Given the description of an element on the screen output the (x, y) to click on. 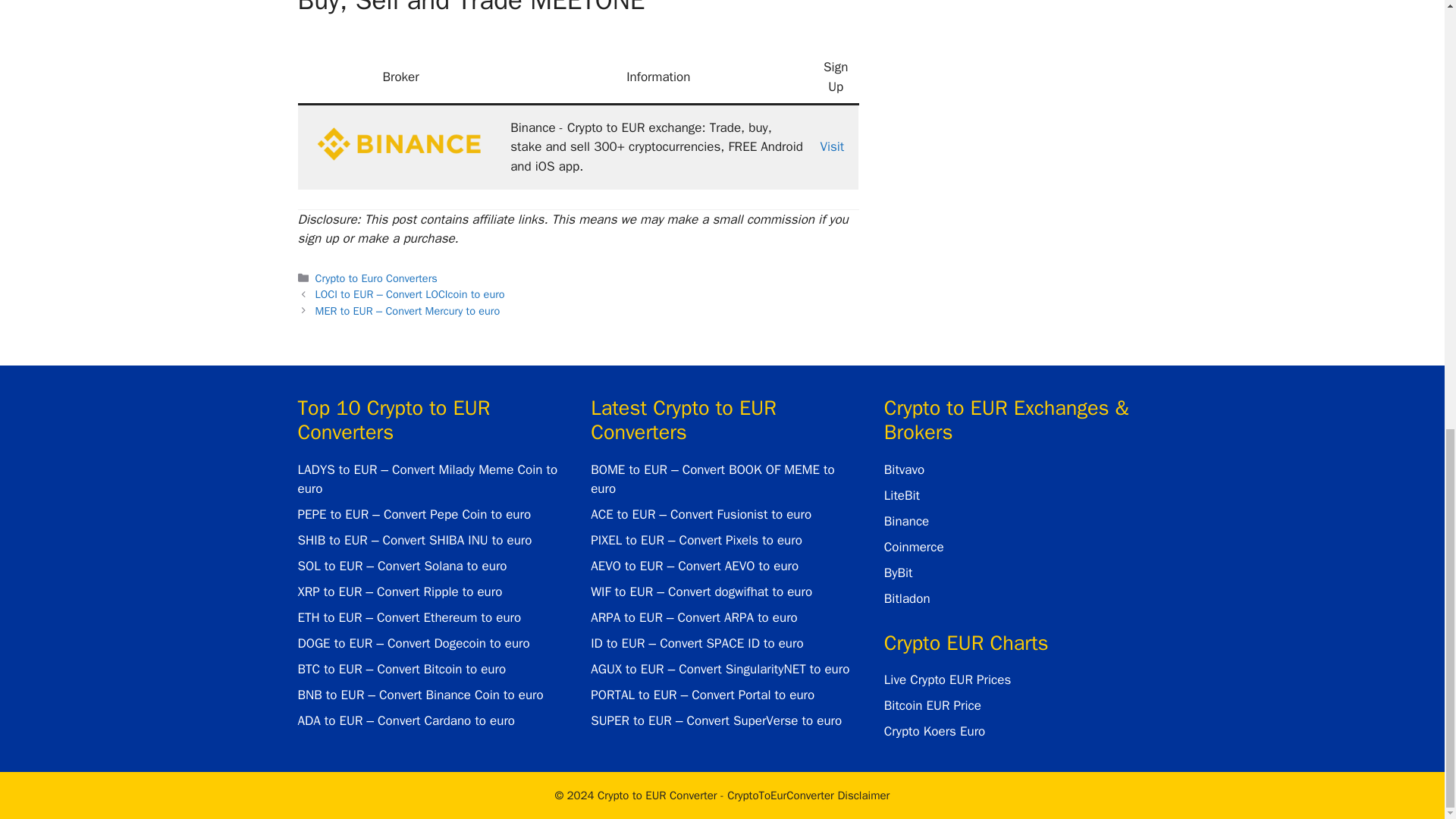
Disclaimer (807, 795)
Visit (831, 146)
MEETONE to EUR - Convert MEETONE to euro (400, 143)
Crypto to Euro Converters (376, 278)
